Given the description of an element on the screen output the (x, y) to click on. 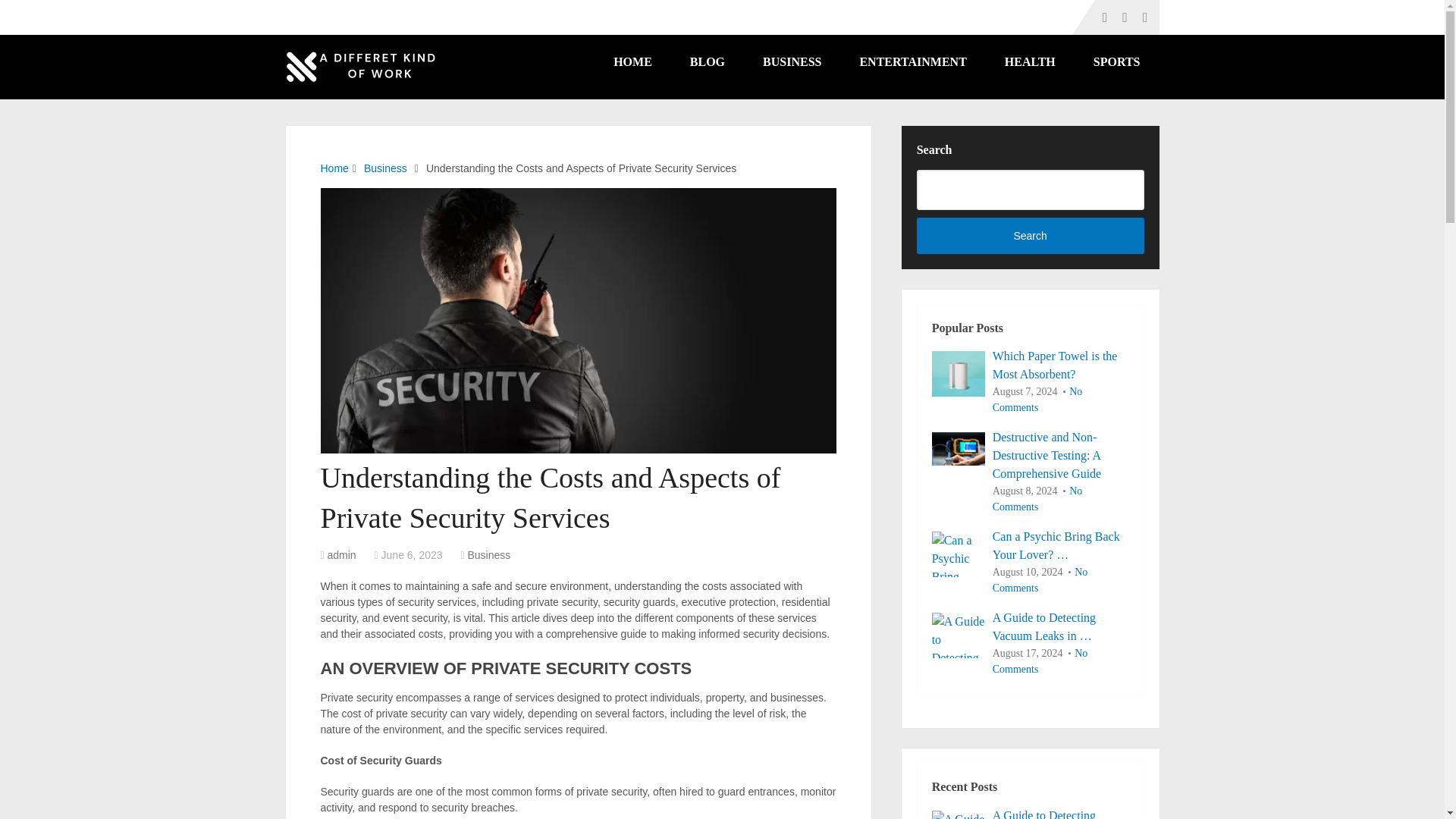
BUSINESS (792, 62)
admin (341, 554)
View all posts in Business (489, 554)
HOME (632, 62)
Search (1030, 235)
Which Paper Towel is the Most Absorbent? (958, 373)
ENTERTAINMENT (912, 62)
Home (333, 168)
BLOG (707, 62)
Business (385, 168)
